Given the description of an element on the screen output the (x, y) to click on. 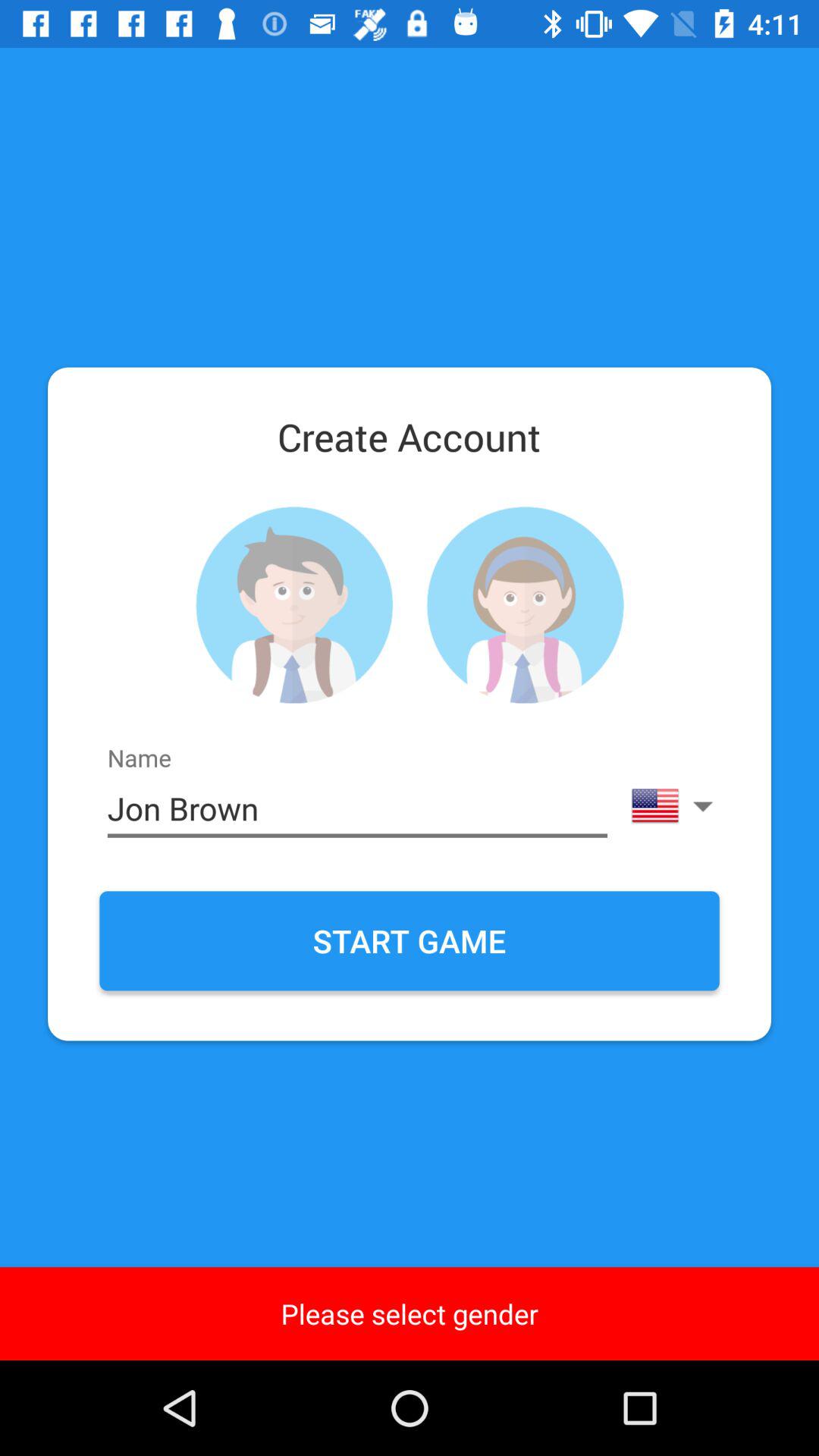
choose male account (293, 605)
